Given the description of an element on the screen output the (x, y) to click on. 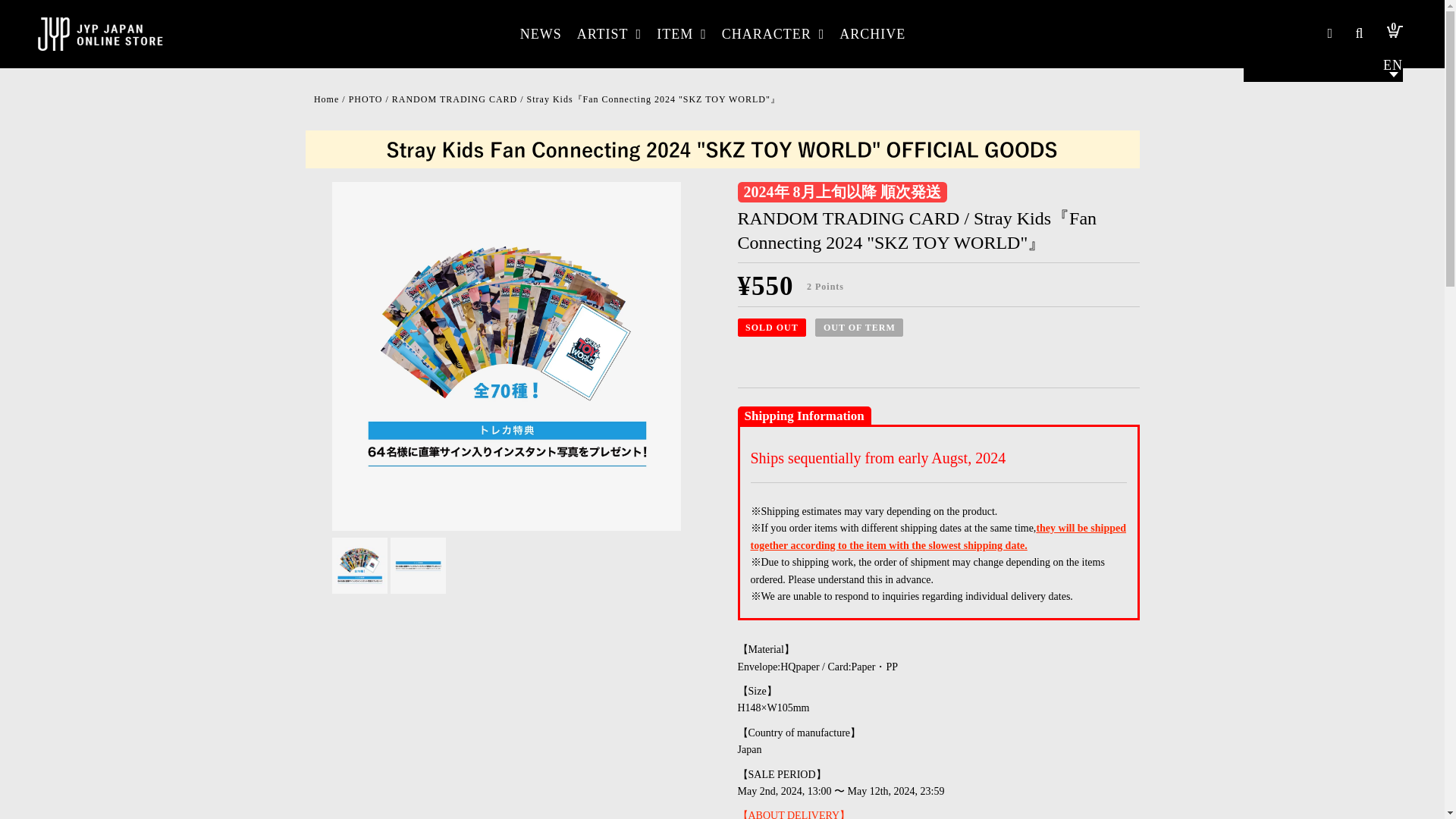
Home (326, 99)
ITEM (681, 33)
PHOTO (365, 99)
ARTIST (609, 33)
NEWS (540, 33)
